Given the description of an element on the screen output the (x, y) to click on. 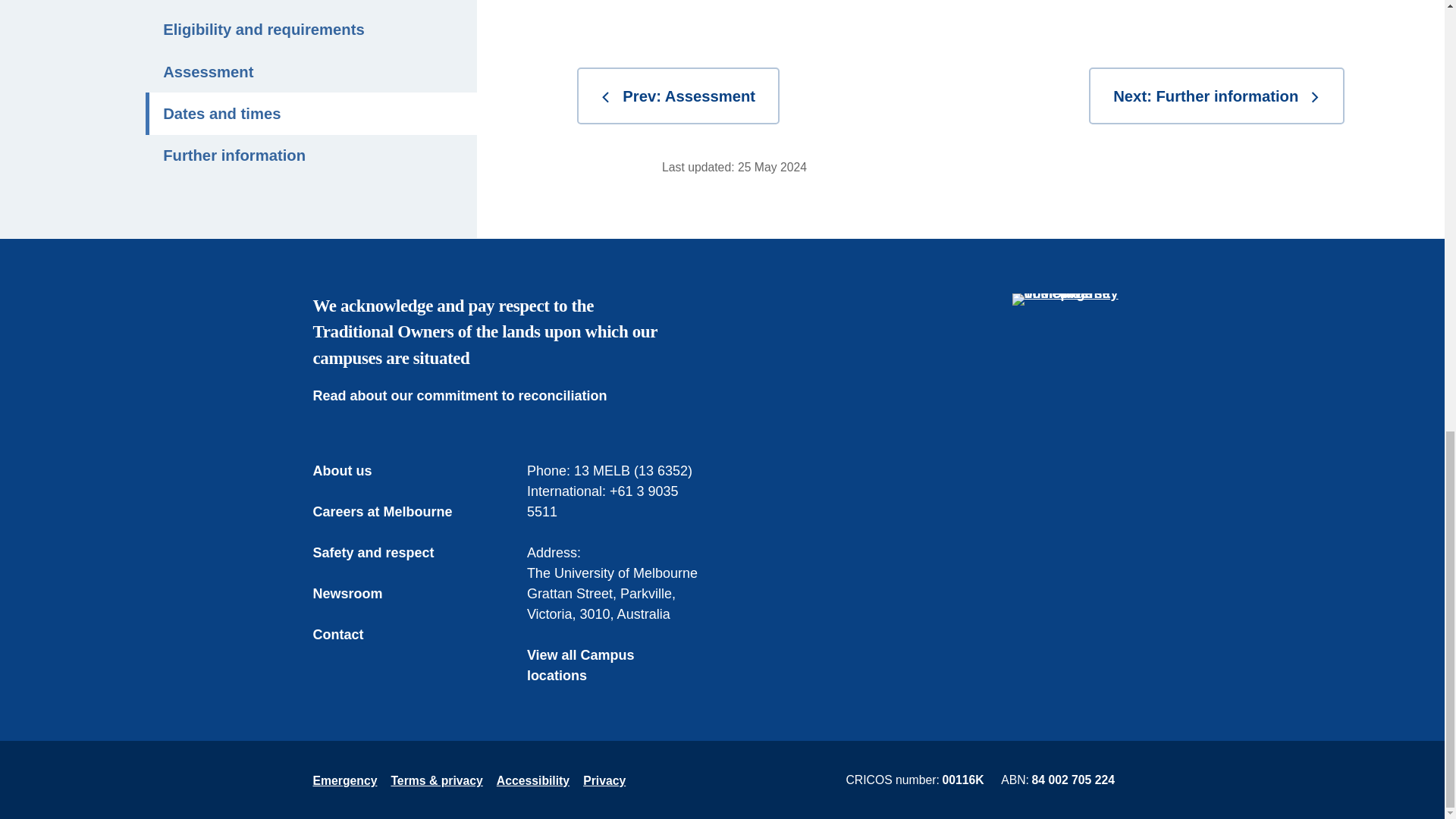
LinkedIn (1083, 448)
Careers at Melbourne (393, 512)
Read about our commitment to reconciliation (470, 395)
Privacy (604, 780)
Instagram (1115, 448)
Next: Further information (1216, 95)
Newsroom (358, 593)
Twitter (1051, 448)
About us (353, 471)
View all Campus locations (615, 665)
Contact (349, 634)
Emergency (345, 780)
Safety and respect (384, 552)
Prev: Assessment (678, 95)
Facebook (1019, 448)
